Given the description of an element on the screen output the (x, y) to click on. 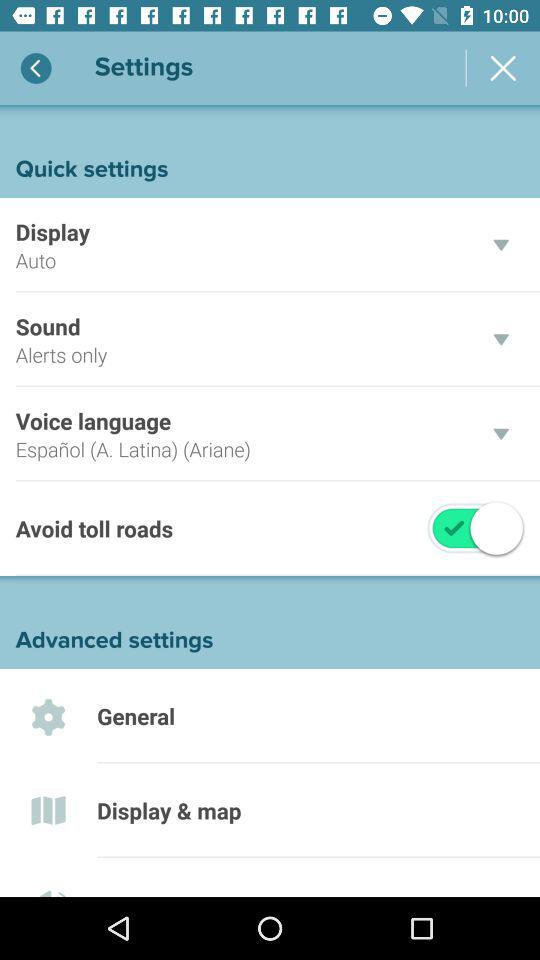
exit menu (503, 67)
